Given the description of an element on the screen output the (x, y) to click on. 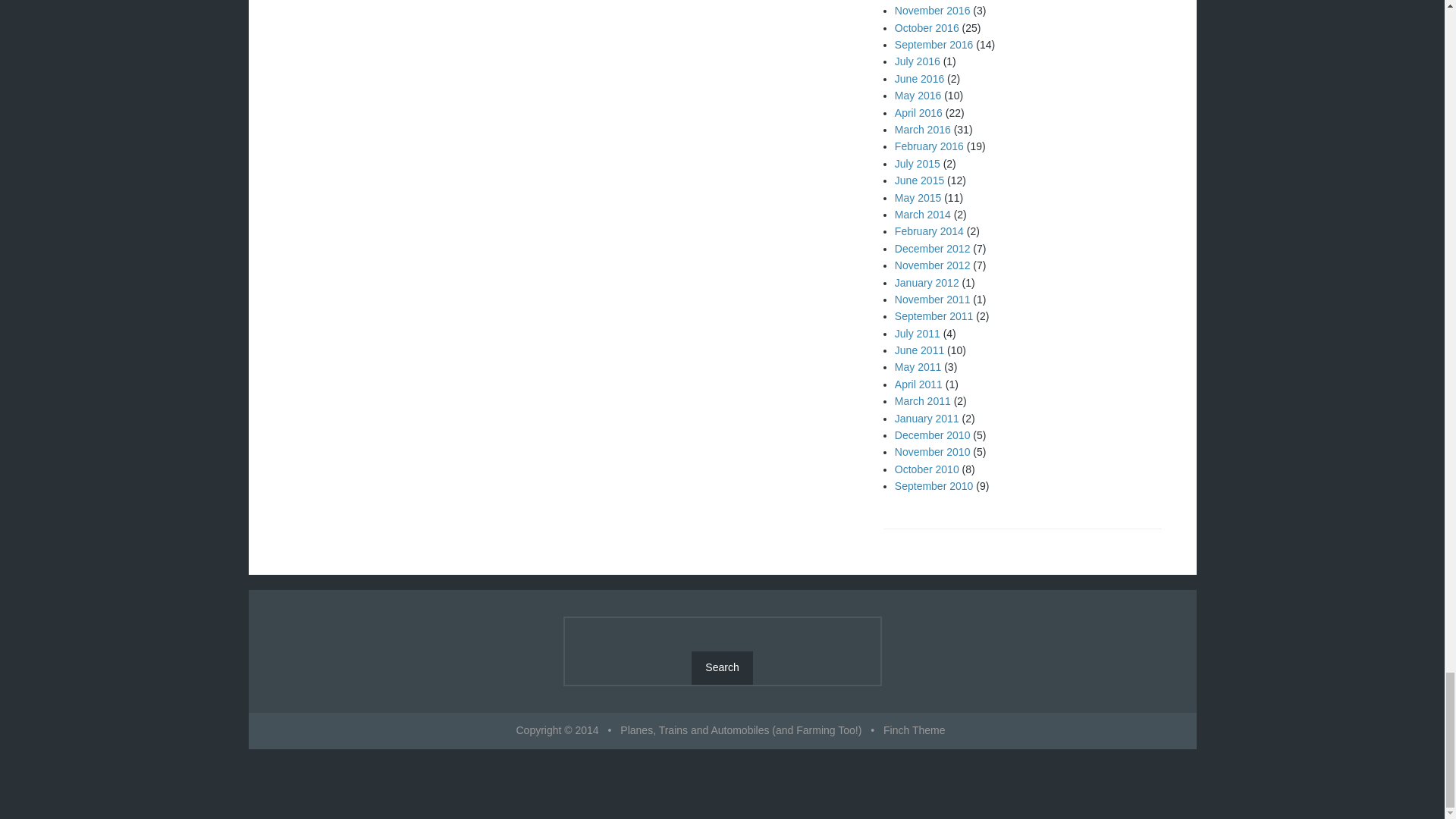
Finch WordPress Theme (913, 729)
Search (721, 667)
Search (721, 667)
